Given the description of an element on the screen output the (x, y) to click on. 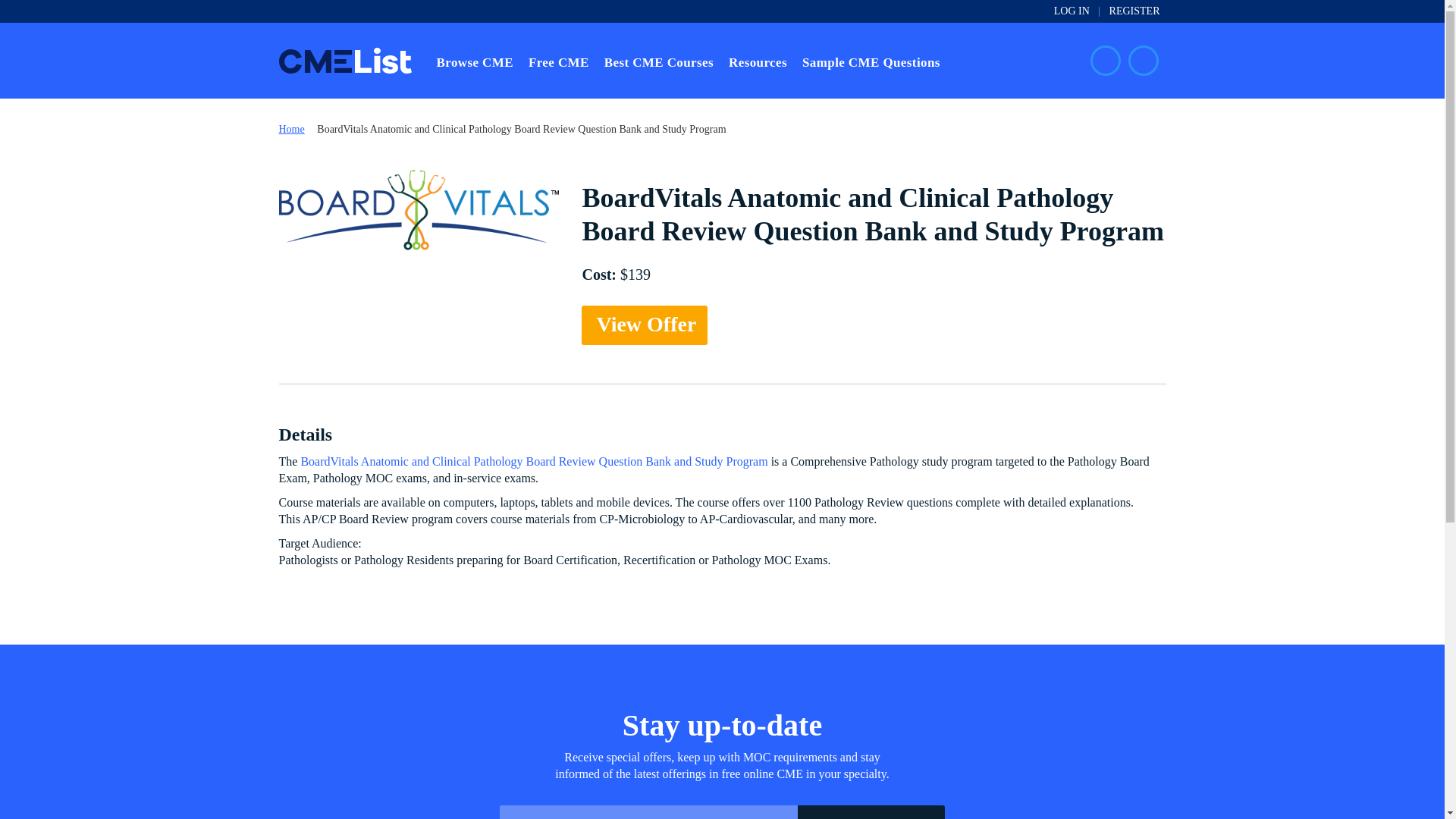
Browse CME (475, 60)
LOG IN (1071, 10)
REGISTER (1134, 10)
